Given the description of an element on the screen output the (x, y) to click on. 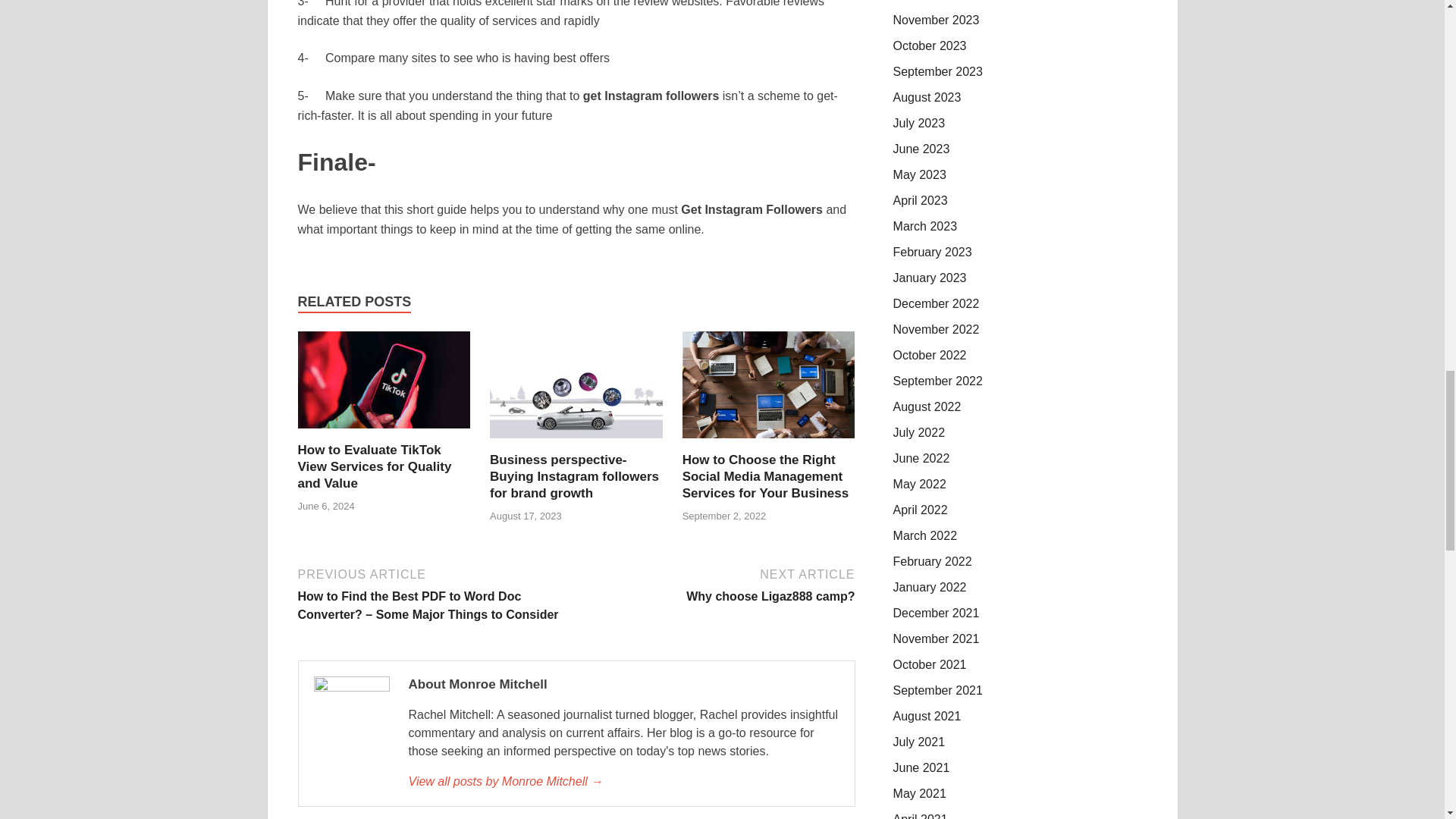
Monroe Mitchell (622, 782)
How to Evaluate TikTok View Services for Quality and Value (374, 466)
How to Evaluate TikTok View Services for Quality and Value (374, 466)
How to Evaluate TikTok View Services for Quality and Value (383, 431)
